Given the description of an element on the screen output the (x, y) to click on. 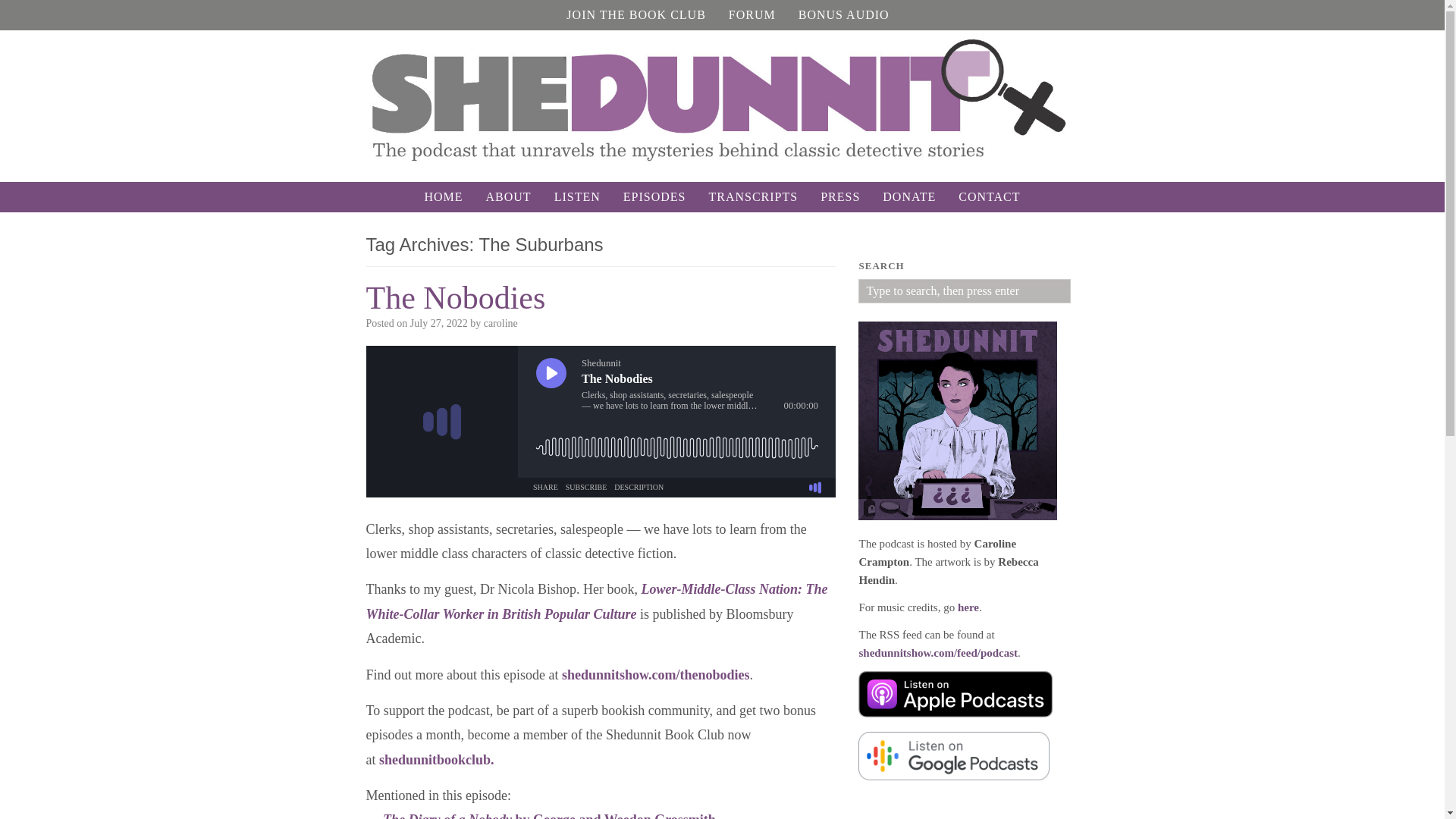
Search (26, 10)
CONTACT (988, 196)
Type to search, then press enter (964, 291)
here (968, 606)
shedunnitbookclub. (436, 759)
View all posts by caroline (500, 323)
The Nobodies (454, 297)
The Diary of a Nobody by George and Weedon Grossmith (549, 815)
The Nobodies (454, 297)
FORUM (752, 15)
DONATE (908, 196)
LISTEN (577, 196)
EPISODES (654, 196)
PRESS (839, 196)
JOIN THE BOOK CLUB (635, 15)
